Given the description of an element on the screen output the (x, y) to click on. 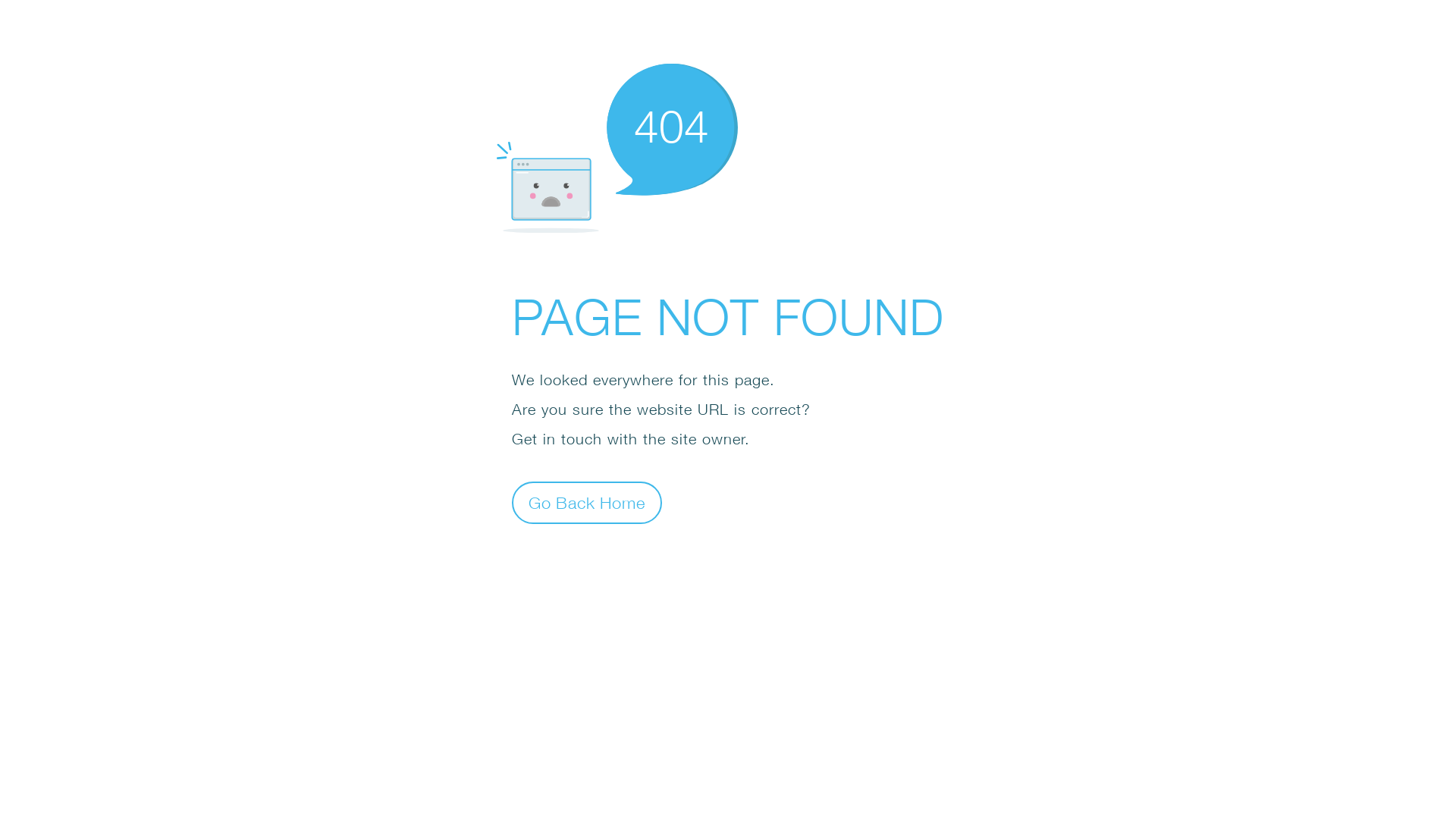
Go Back Home Element type: text (586, 502)
